Given the description of an element on the screen output the (x, y) to click on. 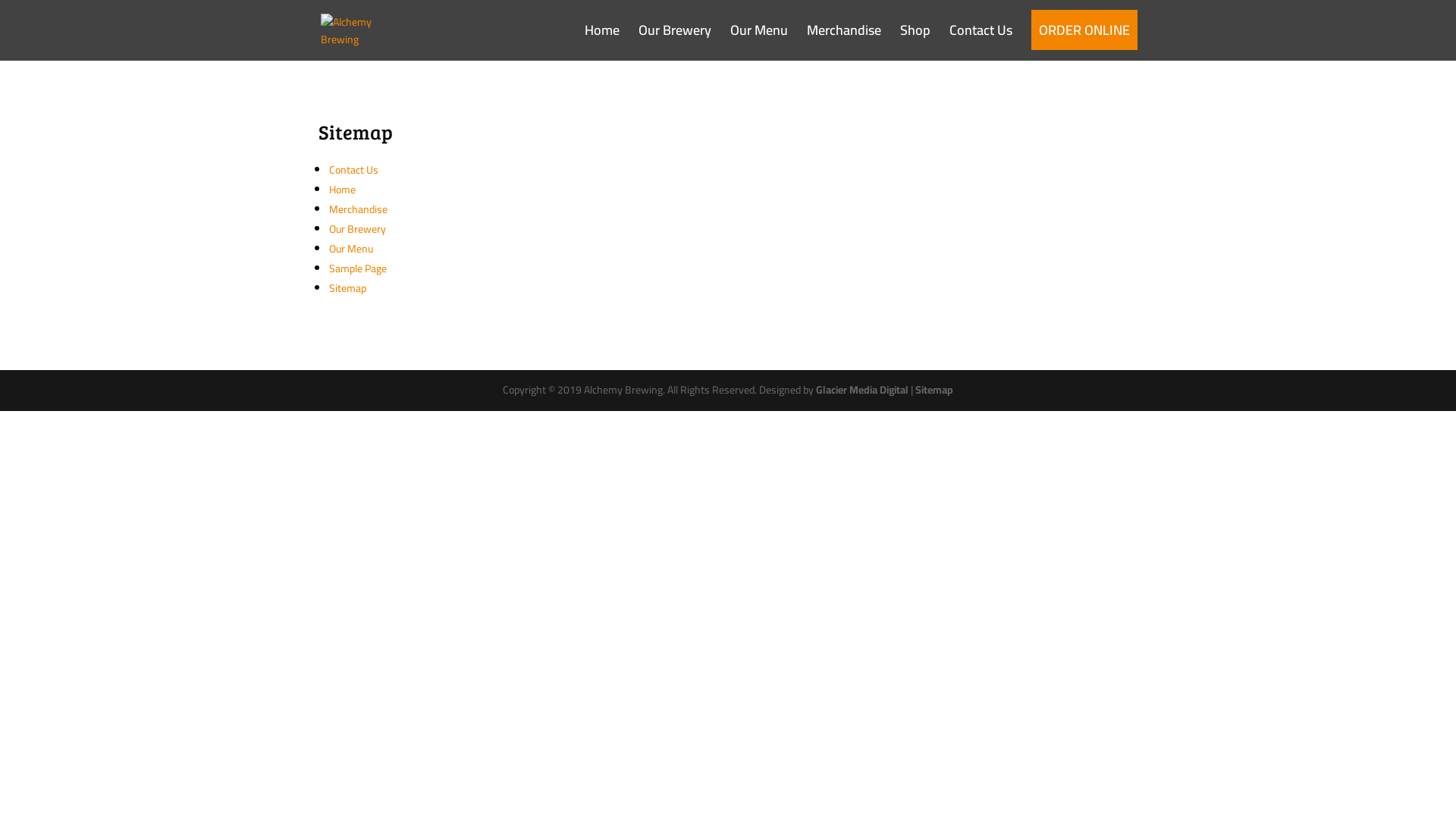
Home Element type: text (342, 189)
Our Menu Element type: text (351, 248)
Contact Us Element type: text (353, 169)
Sitemap Element type: text (934, 389)
Sample Page Element type: text (357, 268)
Contact Us Element type: text (980, 42)
Our Brewery Element type: text (357, 228)
Our Menu Element type: text (758, 42)
Sitemap Element type: text (347, 288)
Shop Element type: text (915, 42)
Merchandise Element type: text (358, 209)
Merchandise Element type: text (843, 42)
Home Element type: text (601, 42)
Our Brewery Element type: text (674, 42)
ORDER ONLINE Element type: text (1084, 42)
Glacier Media Digital Element type: text (861, 389)
